Given the description of an element on the screen output the (x, y) to click on. 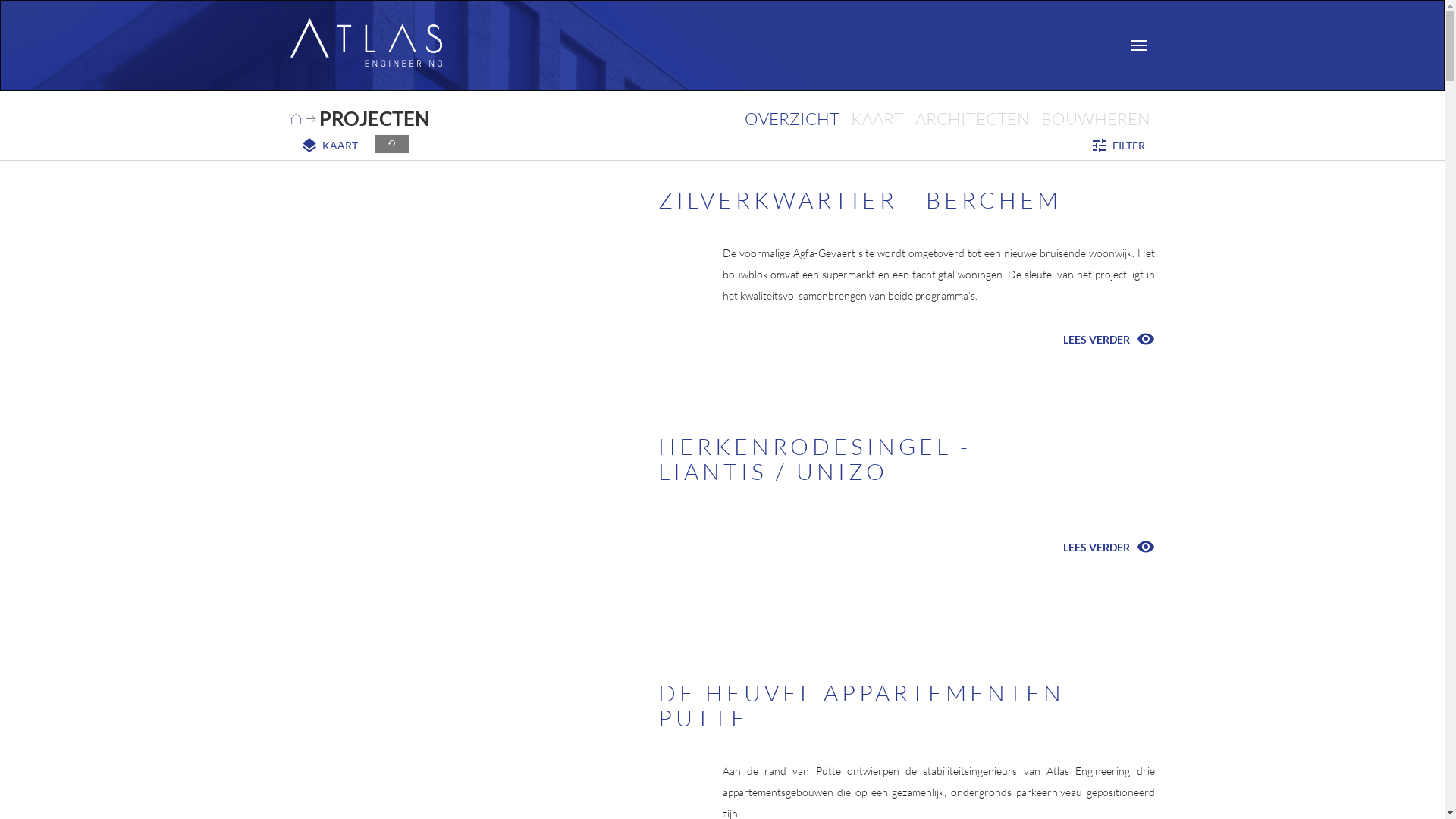
DE HEUVEL APPARTEMENTEN PUTTE Element type: text (861, 704)
BOUWHEREN Element type: text (1095, 118)
  Element type: text (721, 38)
OVERZICHT Element type: text (791, 118)
KAART Element type: text (876, 118)
layers
KAART Element type: text (328, 145)
ARCHITECTEN Element type: text (972, 118)
ZILVERKWARTIER - BERCHEM Element type: text (859, 199)
HERKENRODESINGEL - LIANTIS / UNIZO Element type: text (814, 458)
Toggle navigation Element type: text (1138, 45)
Skip to main content Element type: text (0, 0)
